Given the description of an element on the screen output the (x, y) to click on. 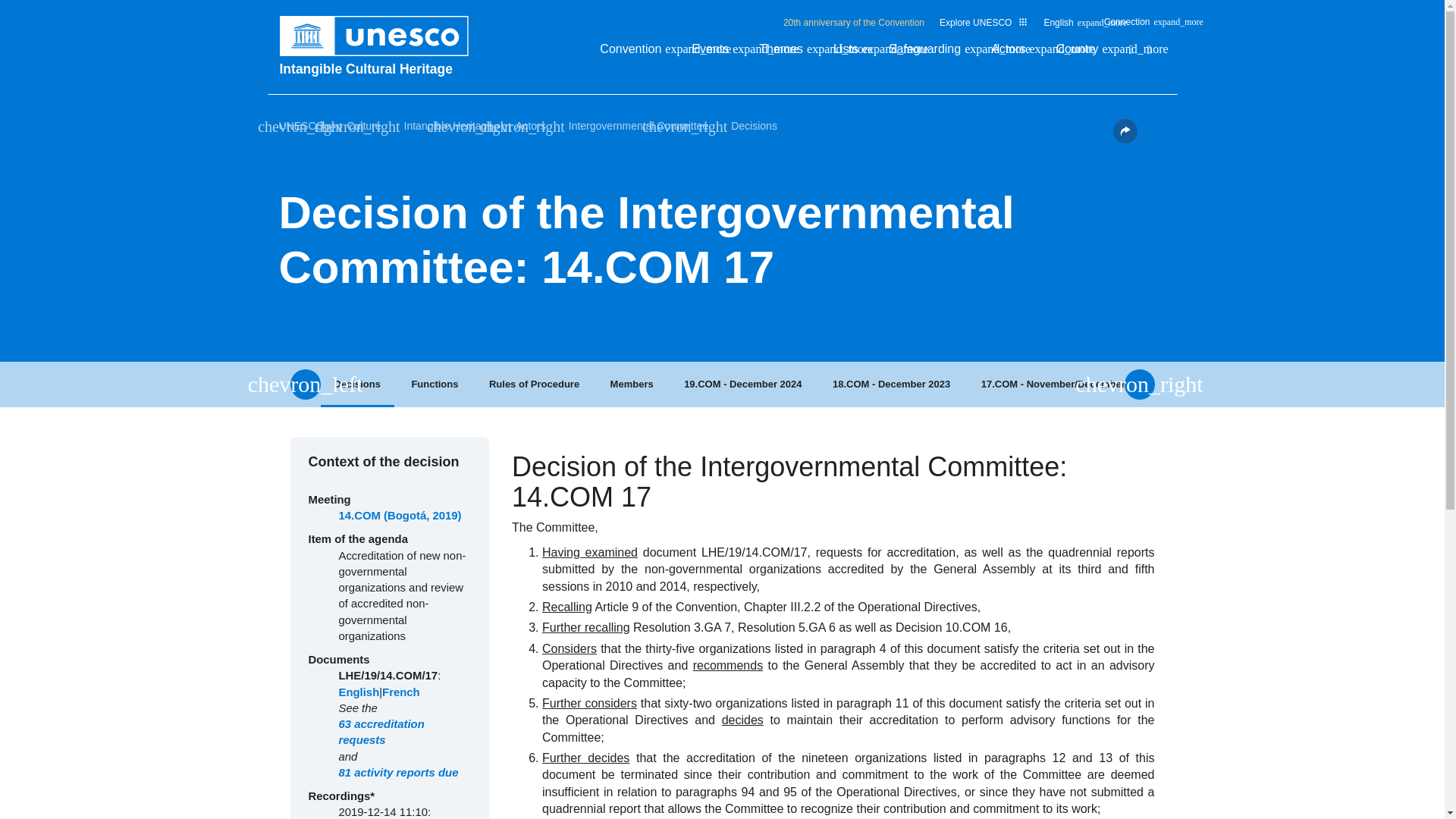
Intangible Cultural Heritage (381, 68)
Explore UNESCO (983, 22)
Lists (852, 52)
Safeguarding (931, 52)
Events (717, 52)
Decisions (356, 384)
Convention (638, 52)
Actors (1016, 52)
Events (717, 52)
